Given the description of an element on the screen output the (x, y) to click on. 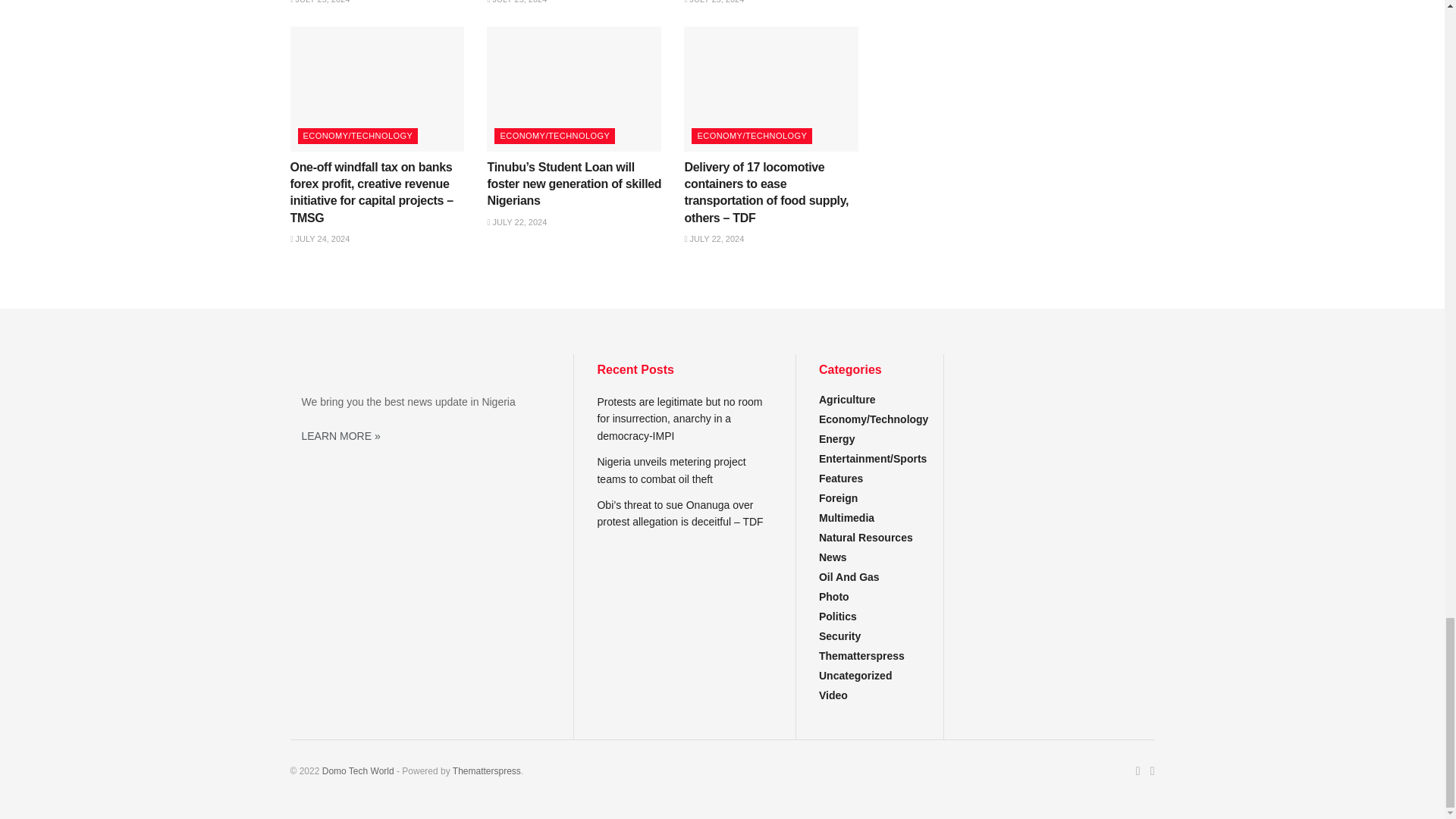
Designed By (357, 770)
Thematterspress (486, 770)
